Given the description of an element on the screen output the (x, y) to click on. 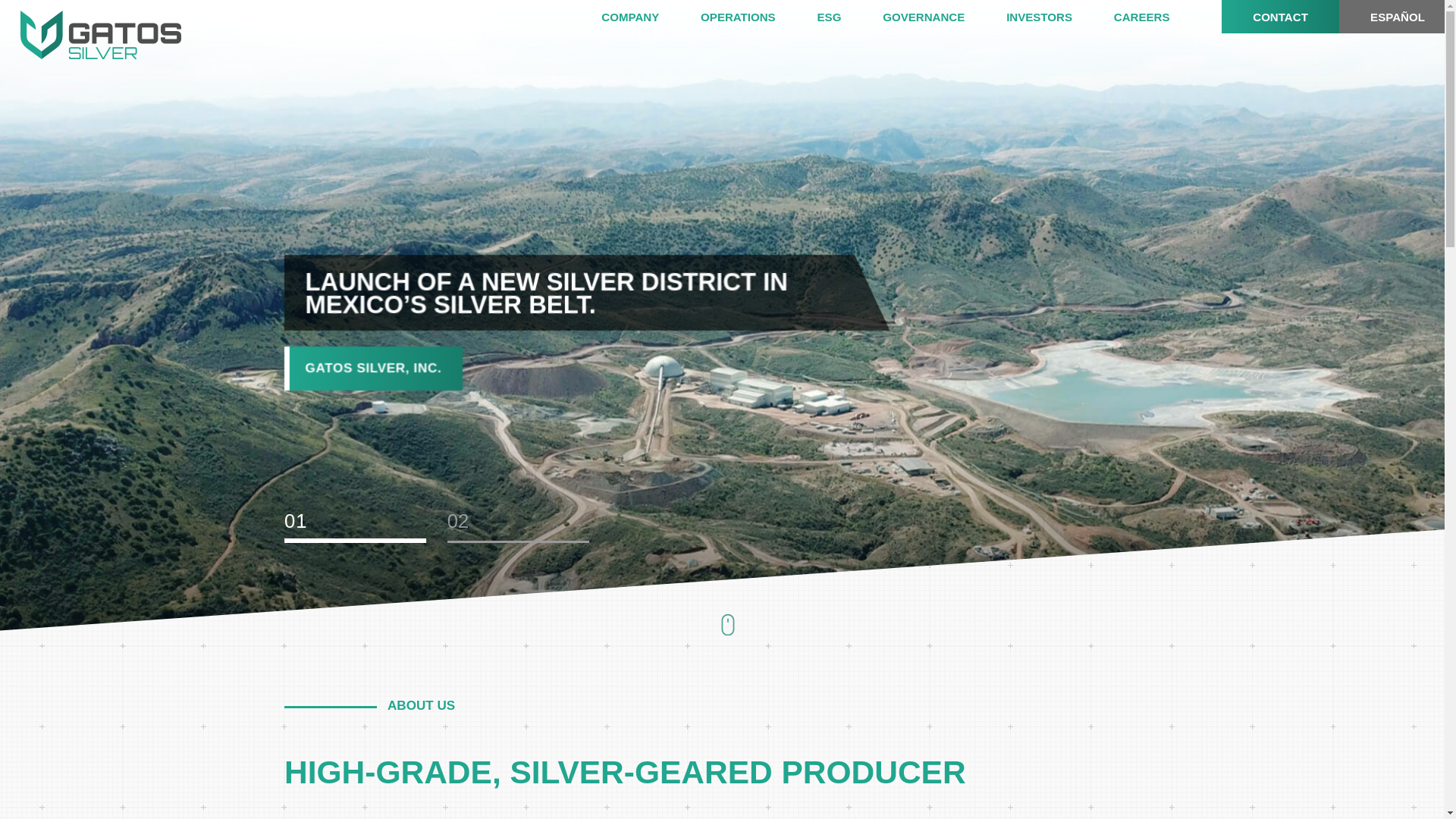
GOVERNANCE (944, 16)
OPERATIONS (758, 16)
INVESTORS (1059, 16)
CAREERS (1162, 16)
ESG (849, 16)
COMPANY (650, 16)
CONTACT (1280, 16)
